Given the description of an element on the screen output the (x, y) to click on. 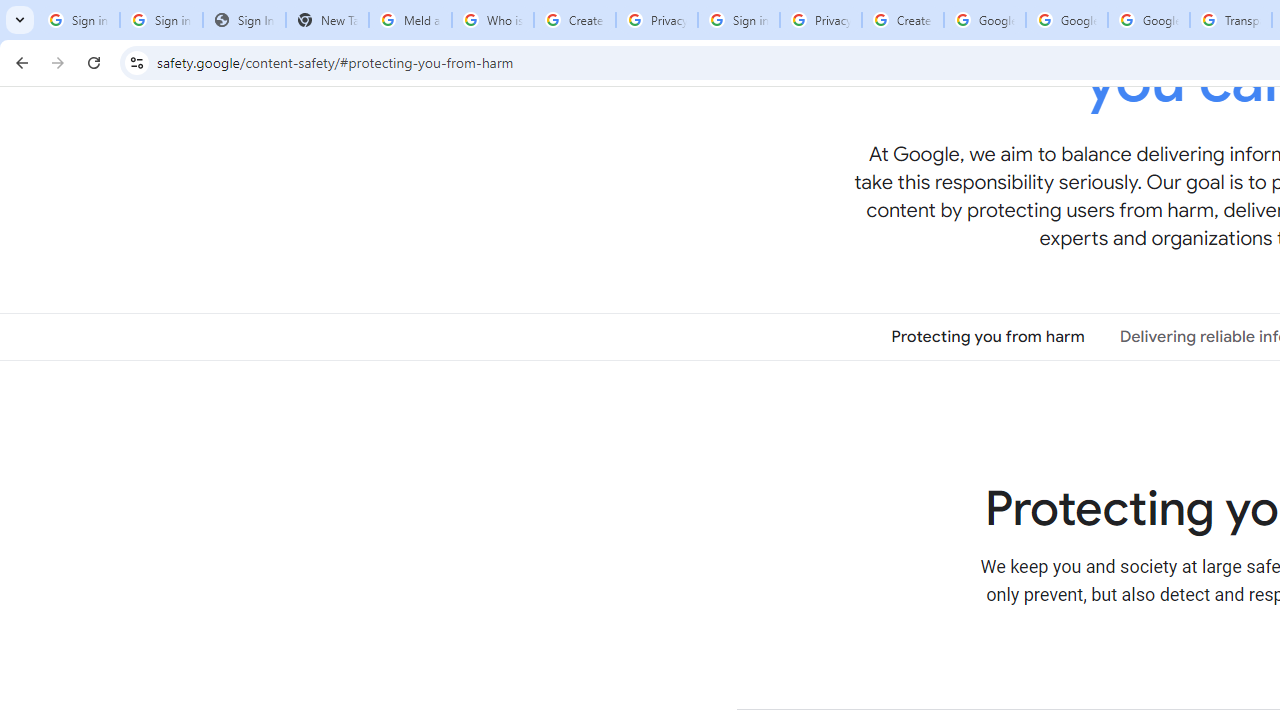
Sign in - Google Accounts (161, 20)
